Given the description of an element on the screen output the (x, y) to click on. 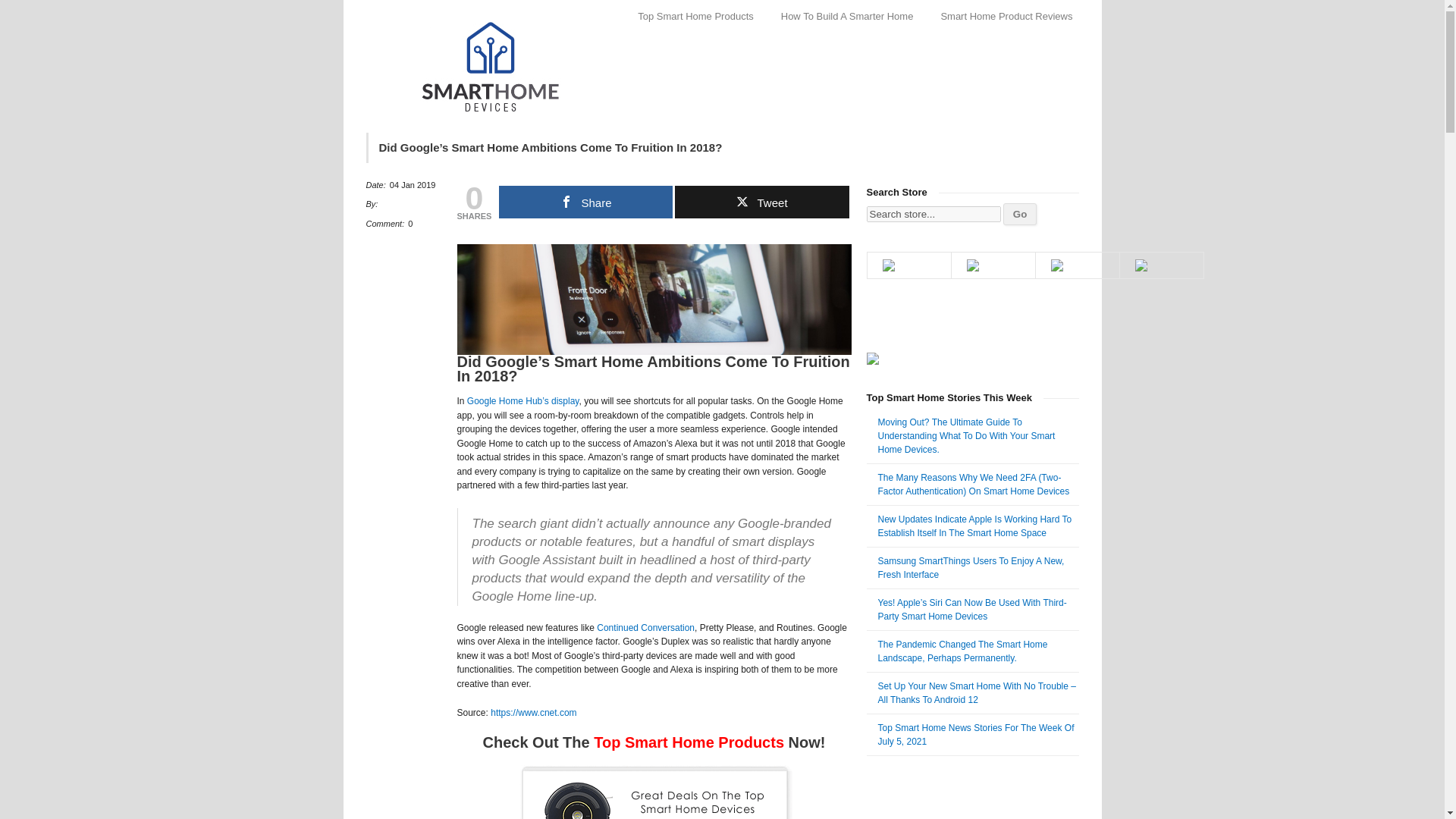
Continued Conversation (645, 627)
Tweet (761, 201)
Share (585, 201)
Go (1019, 214)
Smart Home Product Reviews (1006, 16)
Top Smart Home Products (695, 16)
Search store... (933, 213)
How To Build A Smarter Home (847, 16)
Top Smart Home Products (689, 742)
